Given the description of an element on the screen output the (x, y) to click on. 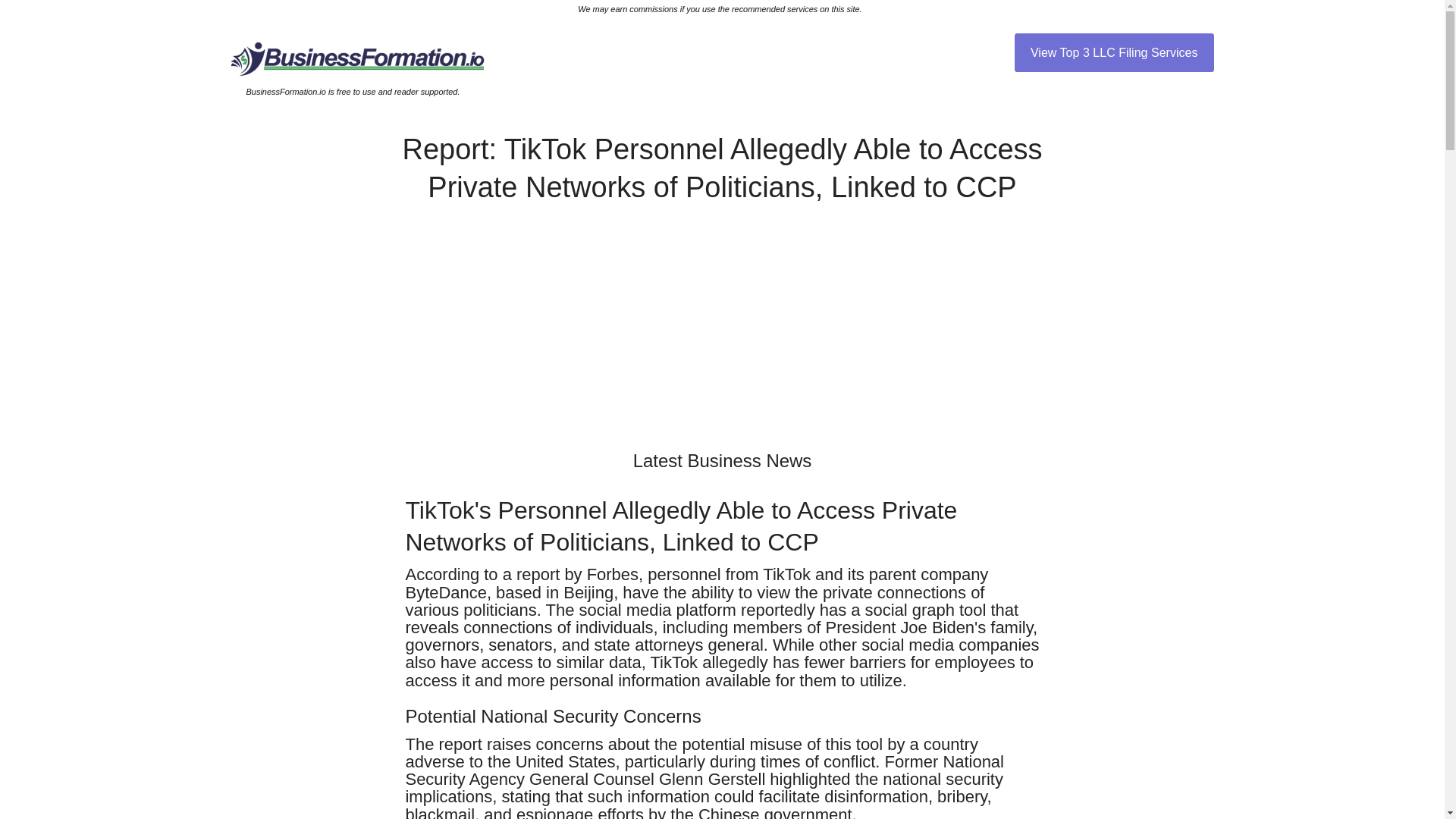
View Top 3 LLC Filing Services (1114, 52)
